Given the description of an element on the screen output the (x, y) to click on. 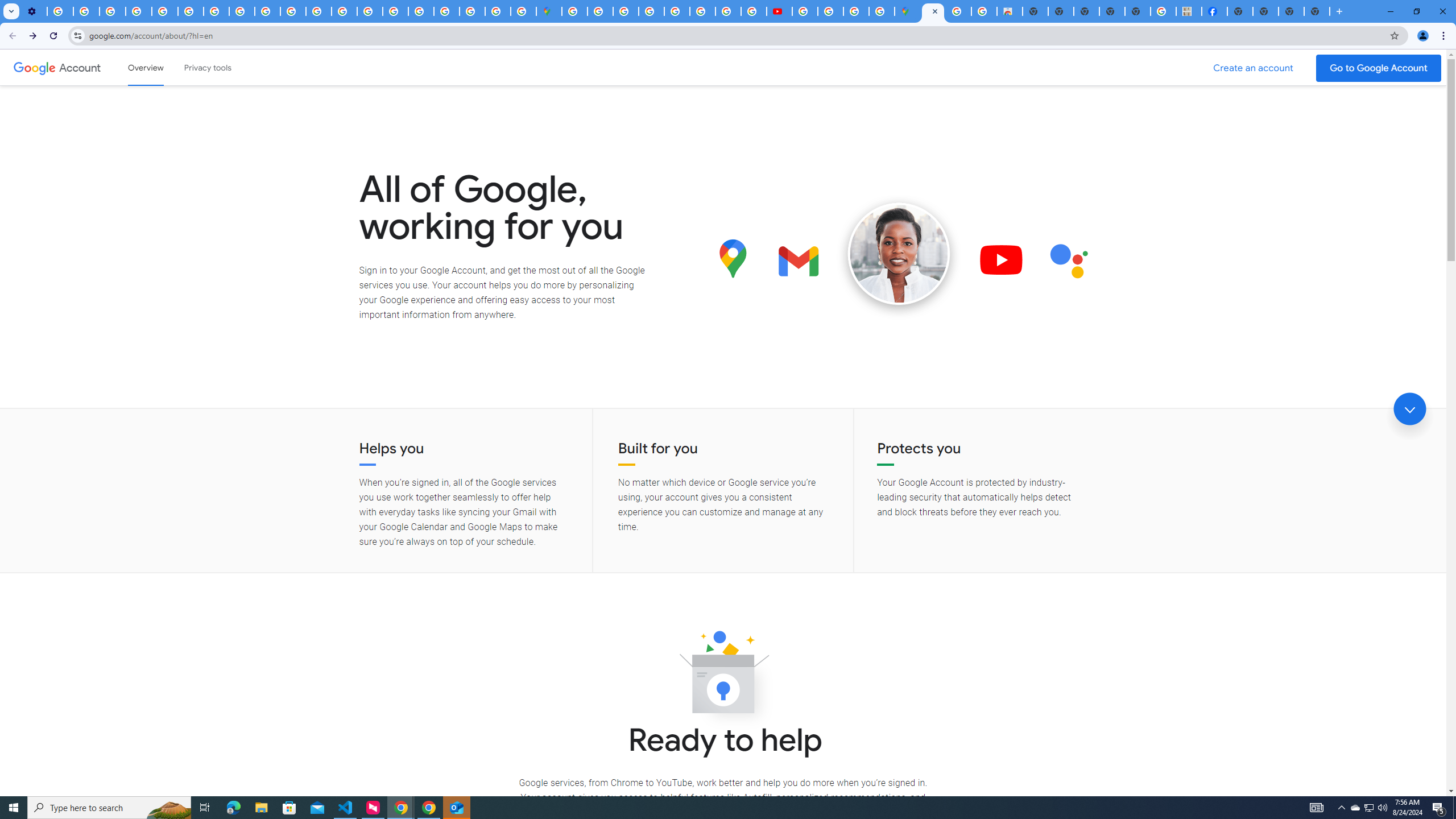
Privacy Checkup (266, 11)
Privacy Help Center - Policies Help (727, 11)
Settings - Customize profile (34, 11)
https://scholar.google.com/ (318, 11)
Privacy Help Center - Policies Help (165, 11)
YouTube (190, 11)
Skip to Content (162, 65)
